Given the description of an element on the screen output the (x, y) to click on. 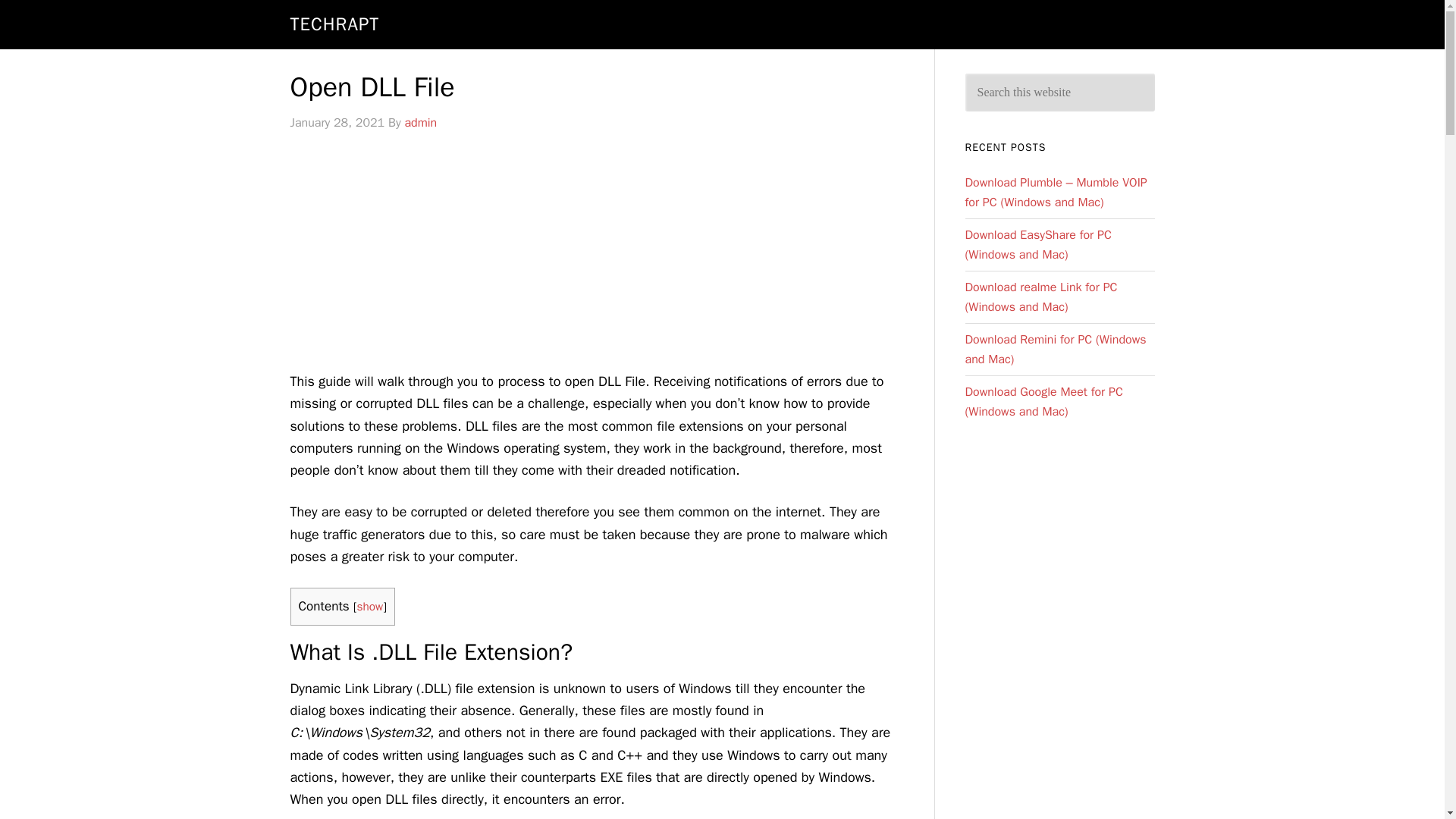
show (369, 606)
admin (420, 122)
TECHRAPT (333, 24)
Advertisement (595, 256)
